Given the description of an element on the screen output the (x, y) to click on. 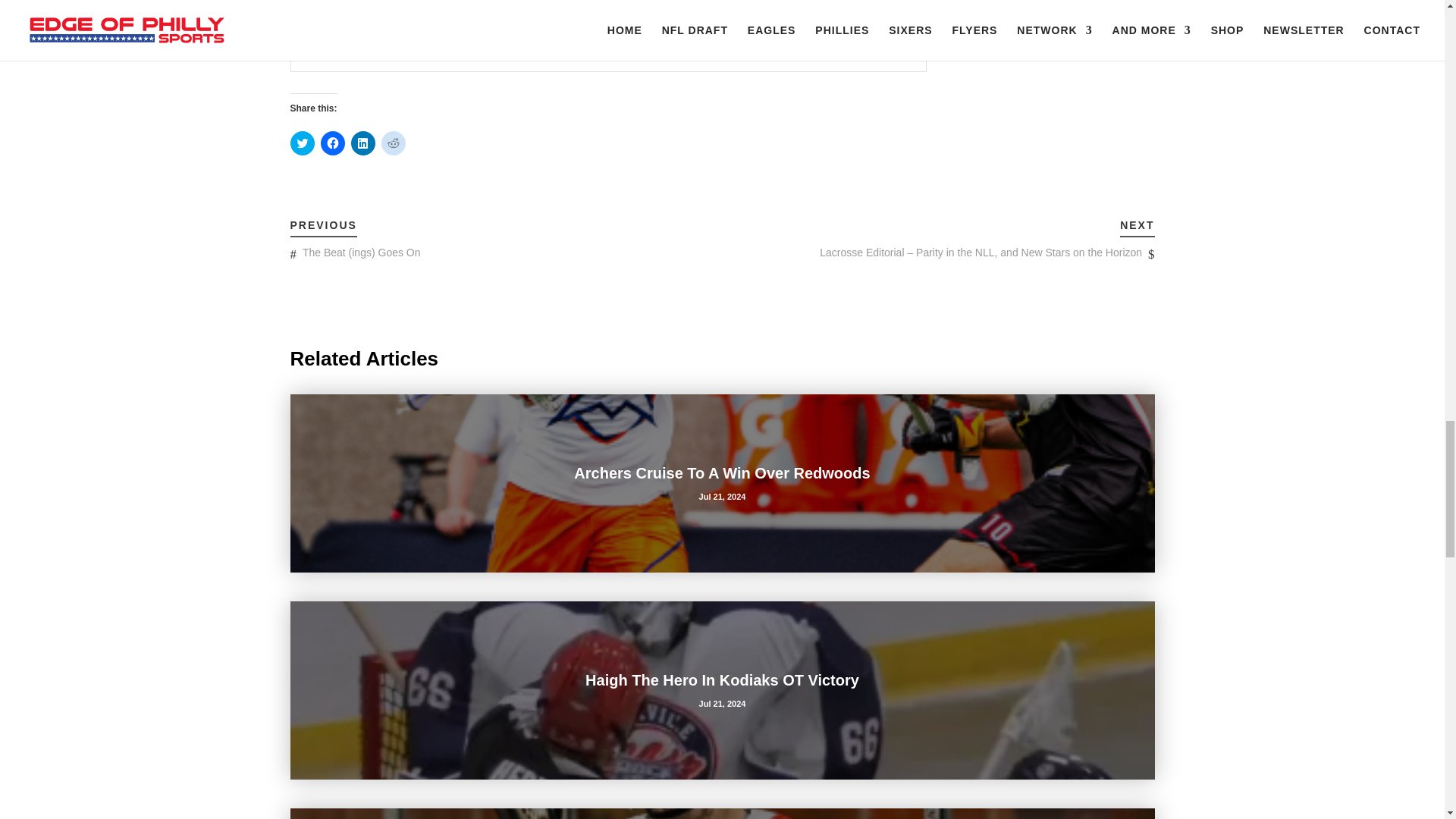
Click to share on LinkedIn (362, 143)
Click to share on Twitter (301, 143)
Click to share on Facebook (331, 143)
Click to share on Reddit (392, 143)
